Given the description of an element on the screen output the (x, y) to click on. 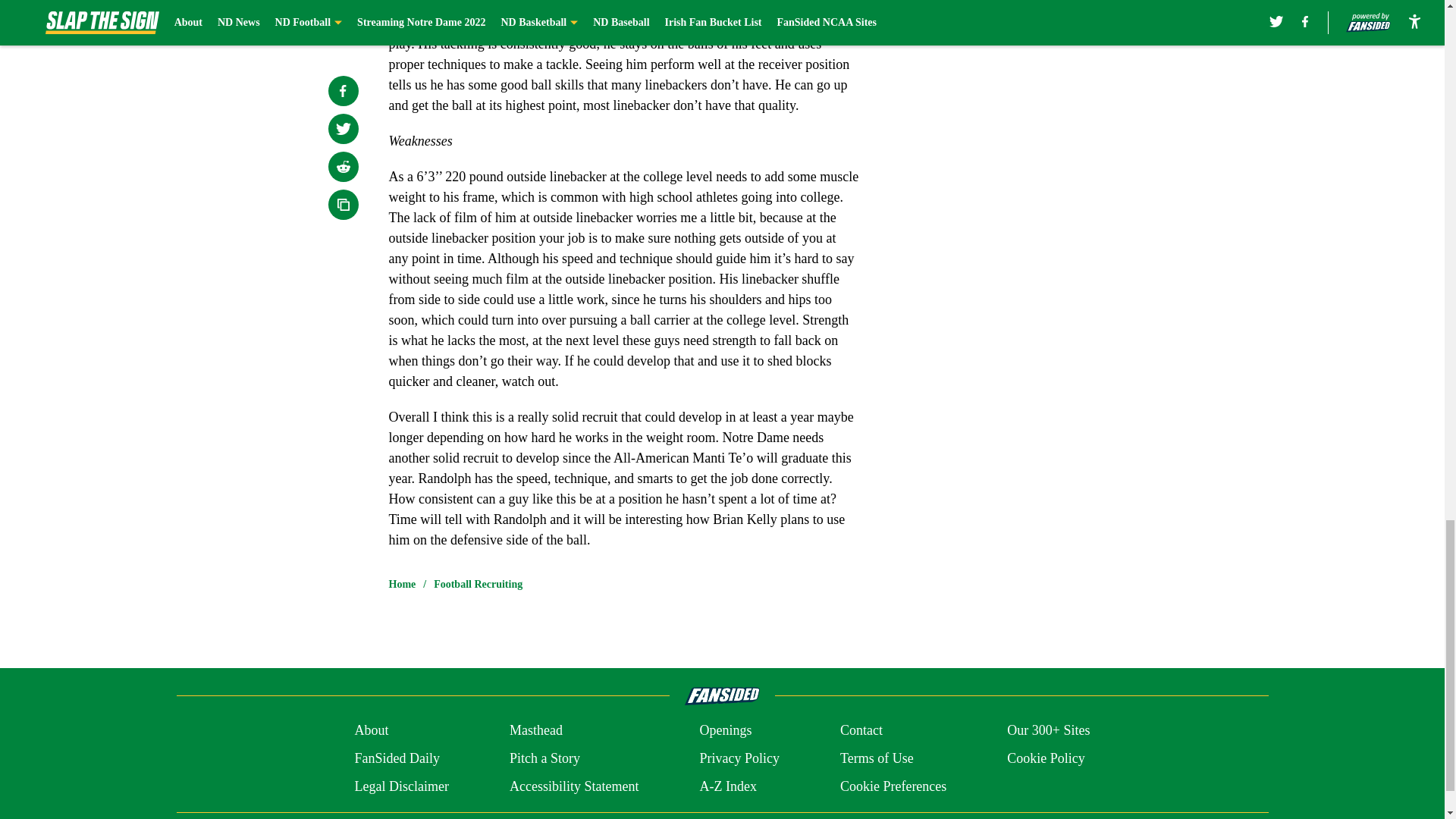
Football Recruiting (477, 584)
Contact (861, 730)
Home (401, 584)
A-Z Index (726, 786)
Legal Disclaimer (400, 786)
Privacy Policy (738, 758)
About (370, 730)
Openings (724, 730)
Terms of Use (877, 758)
Cookie Policy (1045, 758)
Masthead (535, 730)
Pitch a Story (544, 758)
Accessibility Statement (574, 786)
FanSided Daily (396, 758)
Cookie Preferences (893, 786)
